Given the description of an element on the screen output the (x, y) to click on. 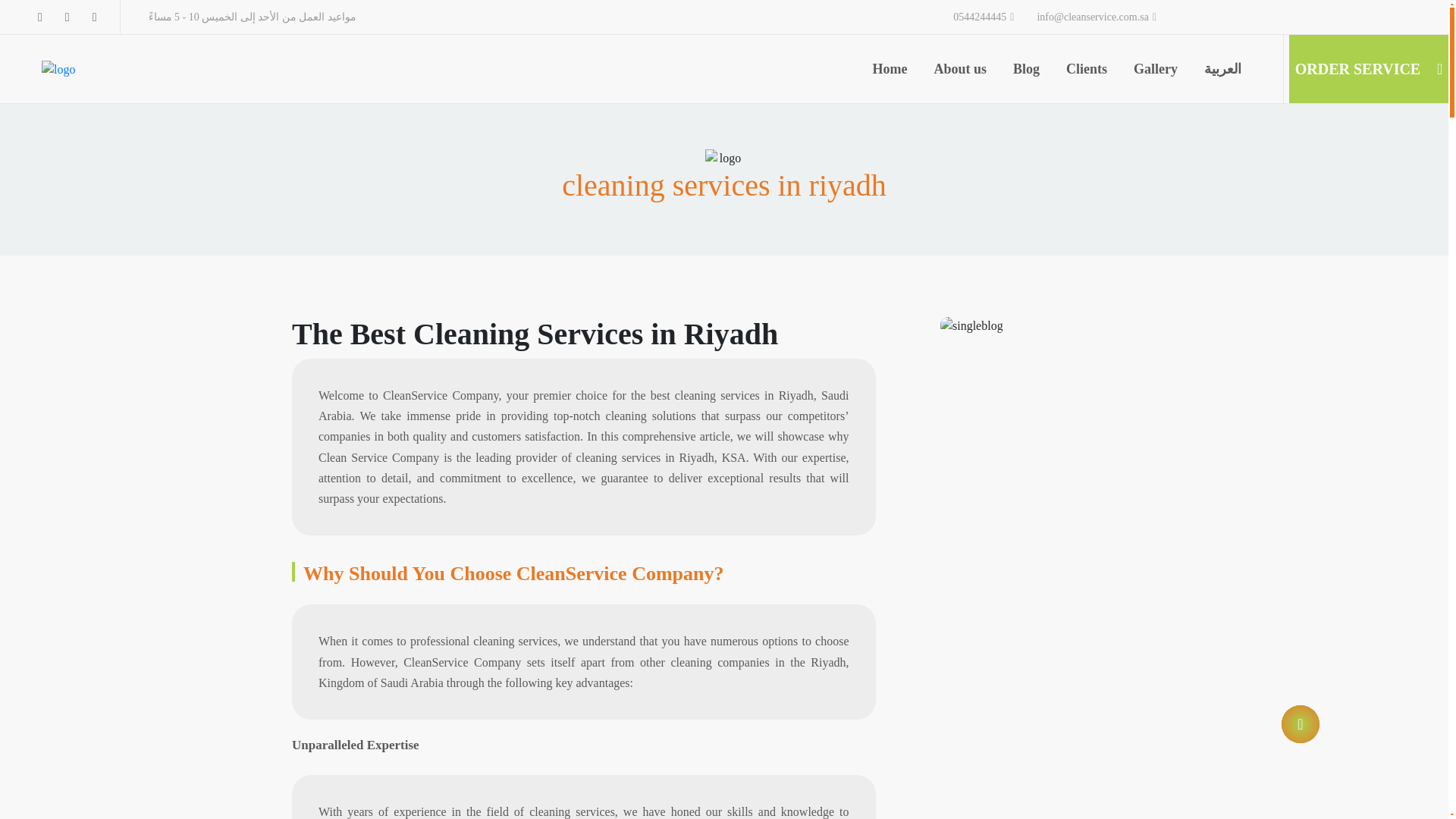
Home (889, 91)
Clients (1085, 91)
Blog (1026, 91)
About us (960, 91)
0544244445 (983, 17)
Gallery (1155, 91)
